Given the description of an element on the screen output the (x, y) to click on. 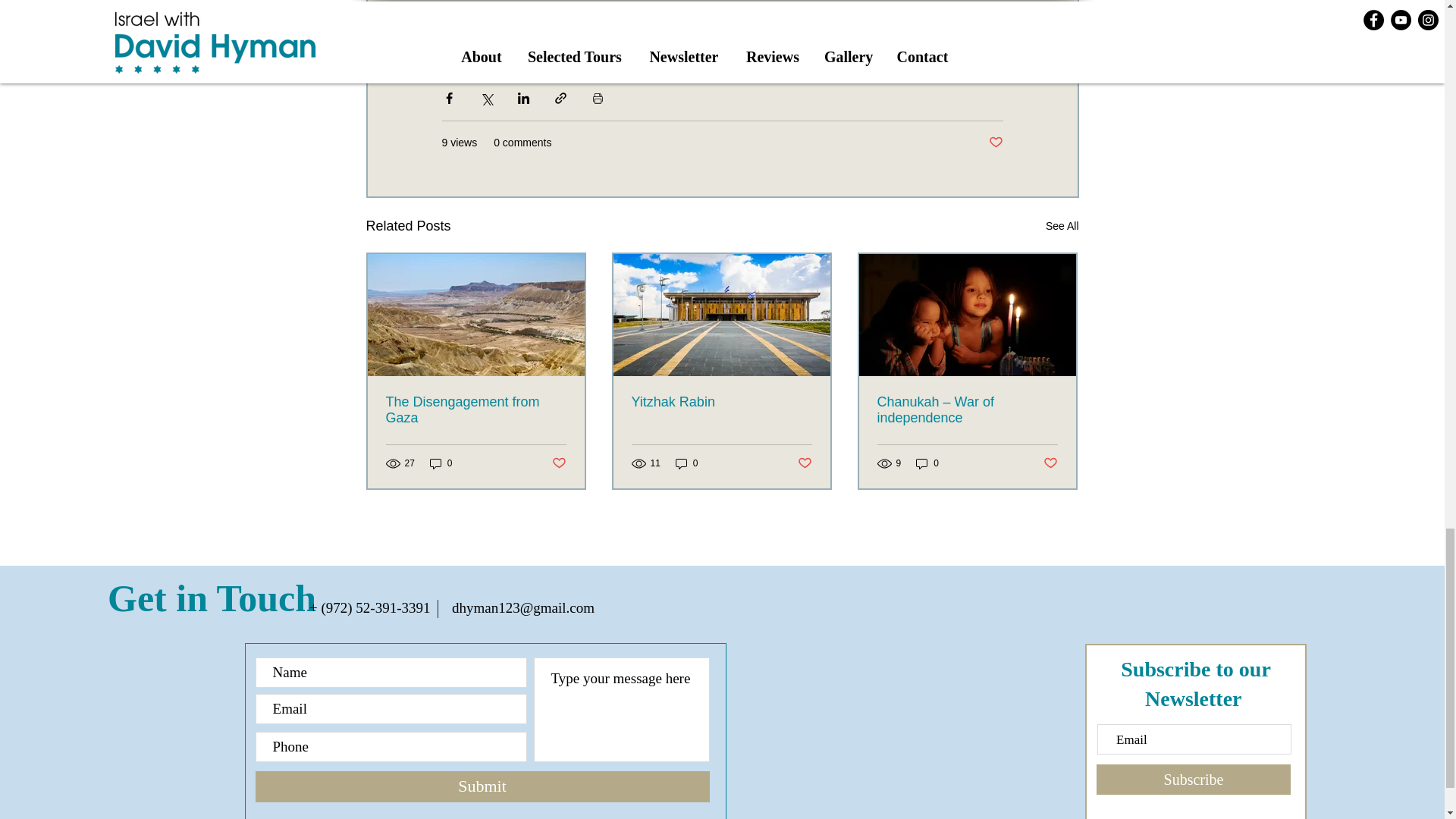
Yitzhak Rabin (720, 401)
The Disengagement from Gaza (475, 409)
Post not marked as liked (804, 463)
Post not marked as liked (1050, 463)
0 (687, 463)
0 (927, 463)
See All (1061, 226)
Submit (483, 786)
Subscribe (1193, 779)
Post not marked as liked (558, 463)
